Given the description of an element on the screen output the (x, y) to click on. 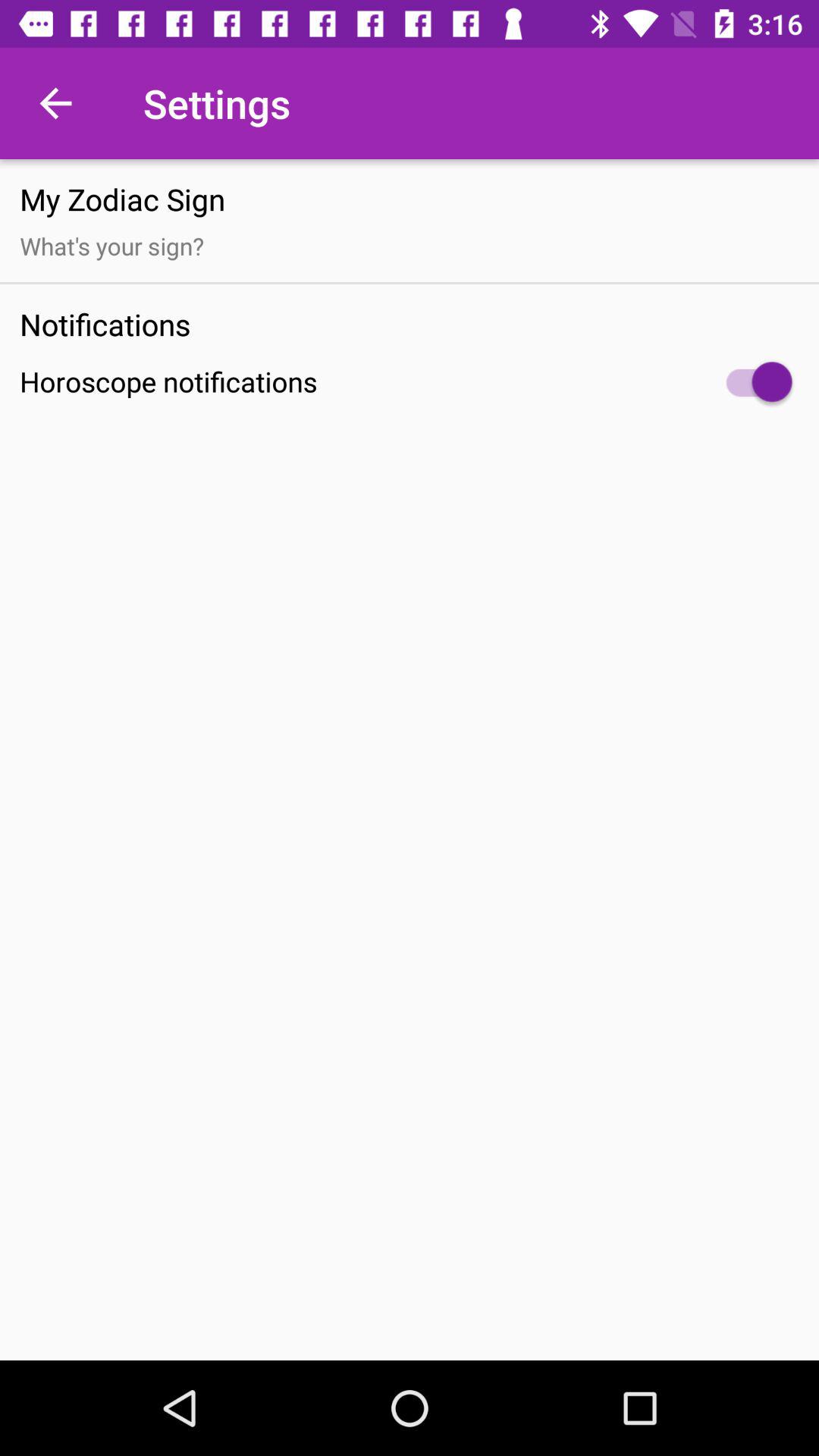
launch the item next to settings icon (55, 103)
